Given the description of an element on the screen output the (x, y) to click on. 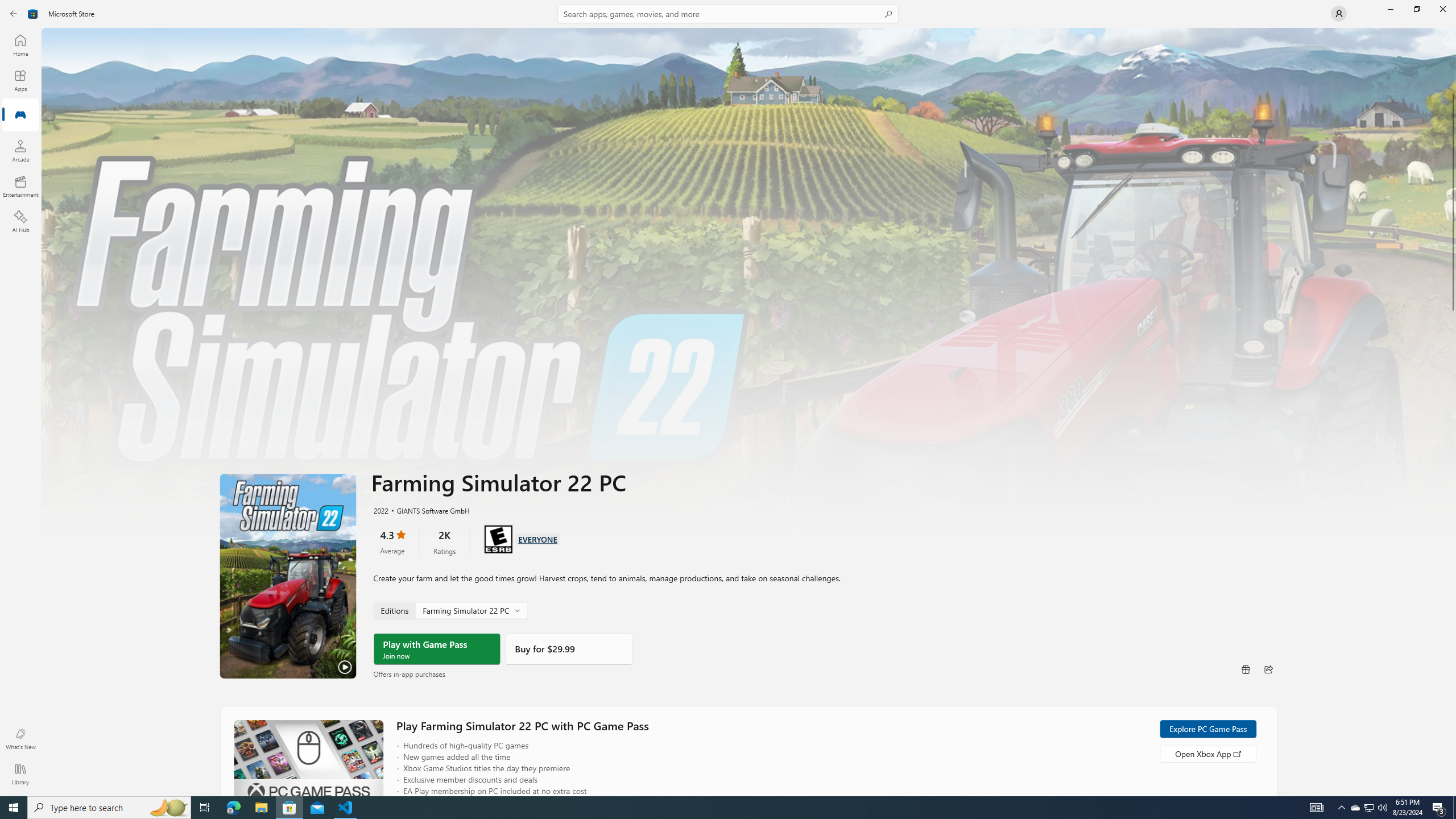
Back (13, 13)
Play with Game Pass (436, 649)
Buy (568, 649)
Search (727, 13)
Vertical Large Decrease (1452, 62)
Vertical Small Increase (1452, 792)
Explore PC Game Pass (1207, 728)
Buy as gift (1245, 669)
Farming Simulator 22 PC, Edition selector (449, 610)
